Given the description of an element on the screen output the (x, y) to click on. 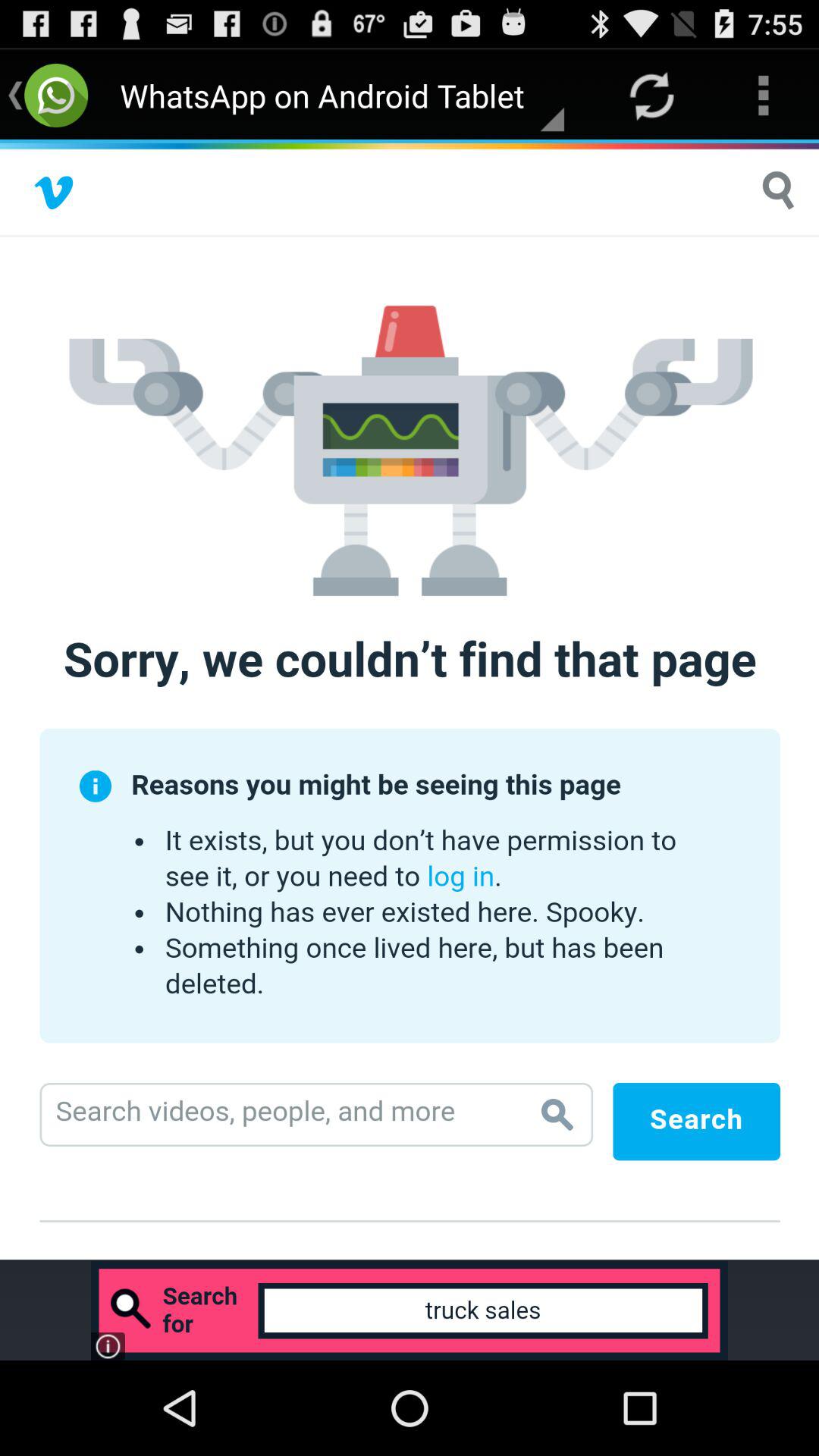
selact screen (409, 701)
